Given the description of an element on the screen output the (x, y) to click on. 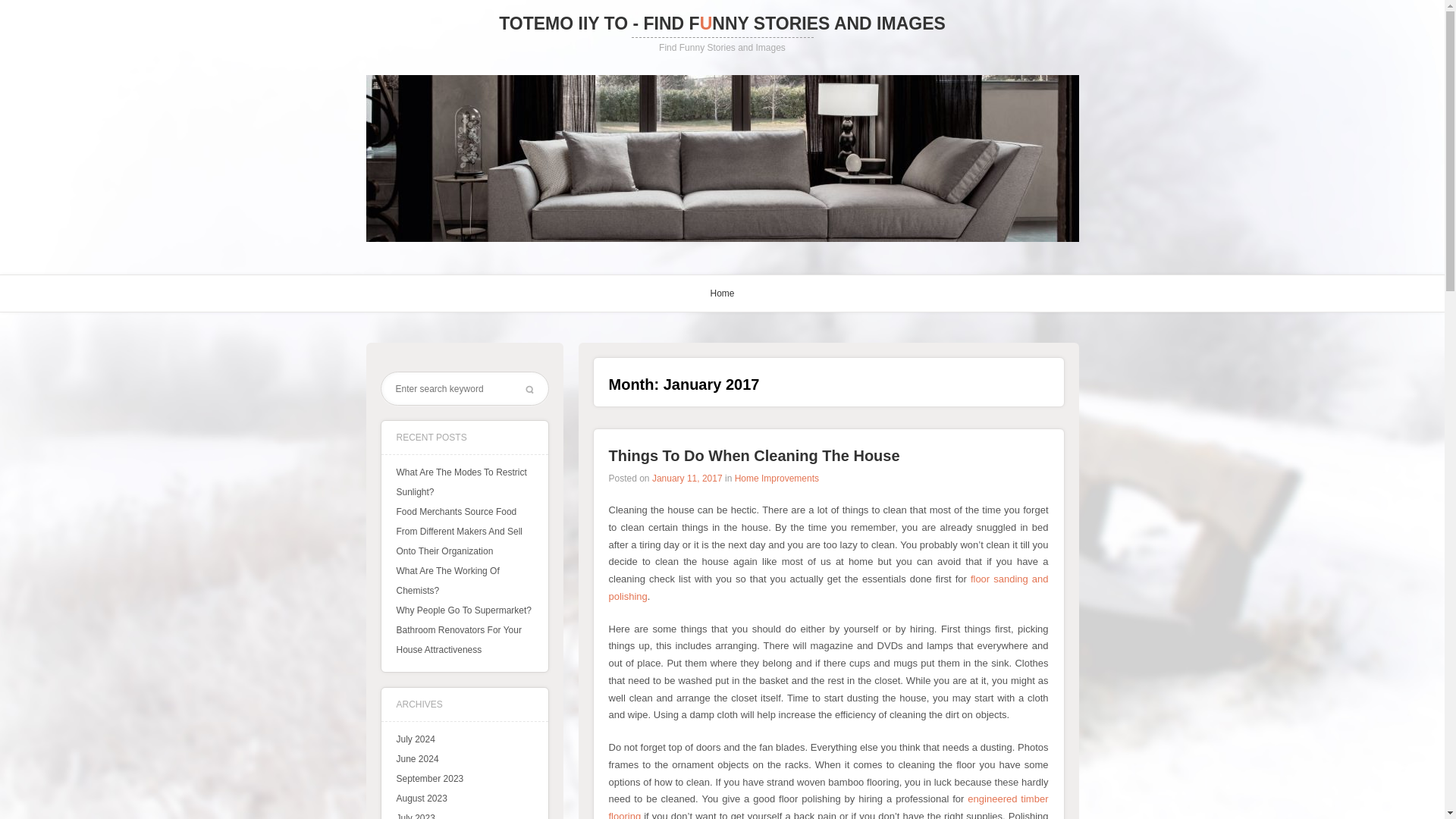
What Are The Modes To Restrict Sunlight? (460, 481)
Home (721, 293)
Bathroom Renovators For Your House Attractiveness (458, 639)
September 2023 (429, 778)
image for header (721, 158)
July 2024 (414, 738)
June 2024 (417, 758)
August 2023 (421, 798)
What Are The Working Of Chemists? (447, 580)
Why People Go To Supermarket? (463, 610)
July 2023 (414, 816)
TOTEMO IIY TO - FIND FUNNY STORIES AND IMAGES (721, 23)
